Given the description of an element on the screen output the (x, y) to click on. 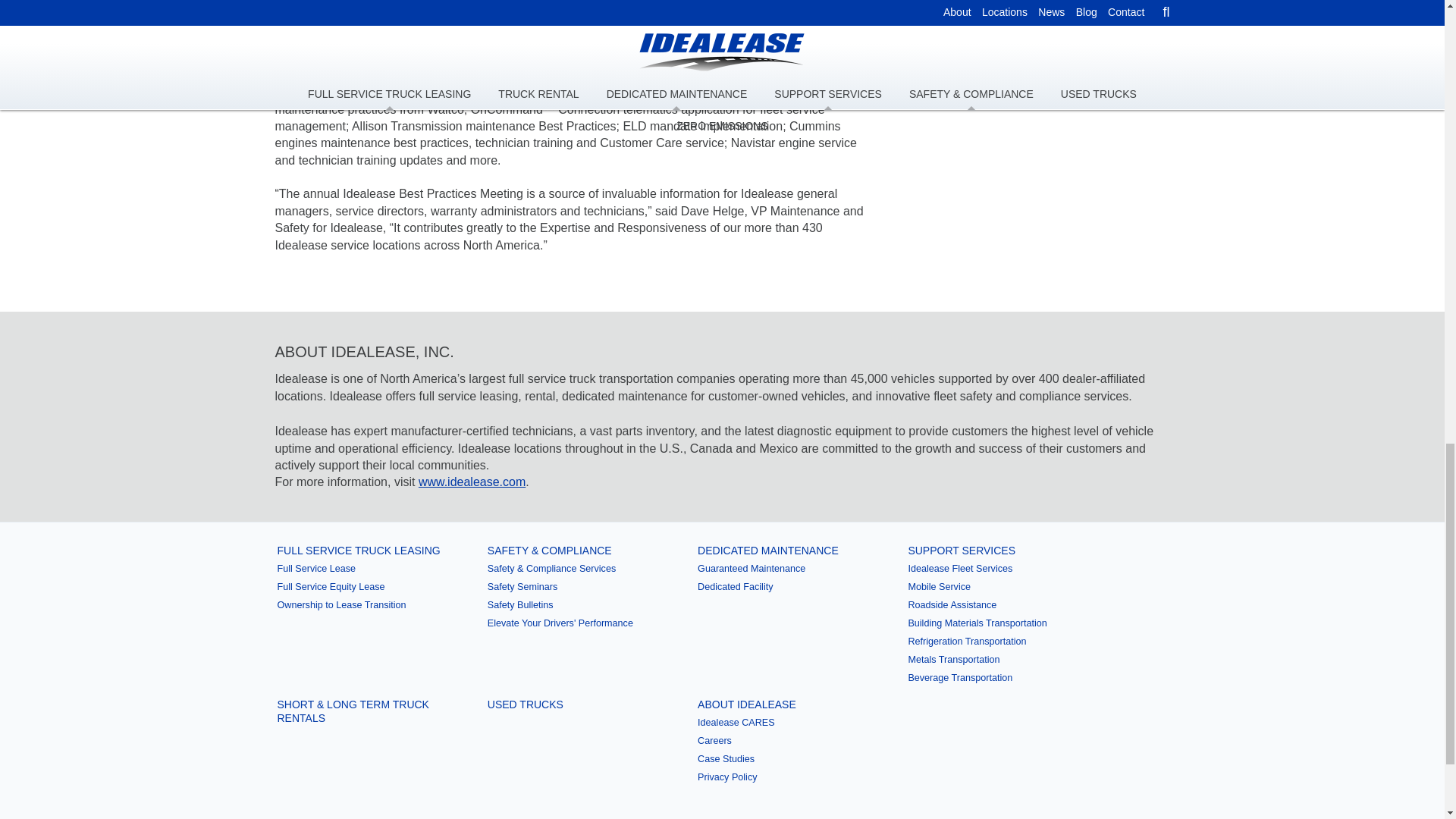
Full Service Lease (366, 569)
Idealease, Inc (472, 481)
Full Service Equity Lease (366, 587)
Ownership to Lease Transition (366, 605)
Full Service Truck Leasing (366, 550)
